Given the description of an element on the screen output the (x, y) to click on. 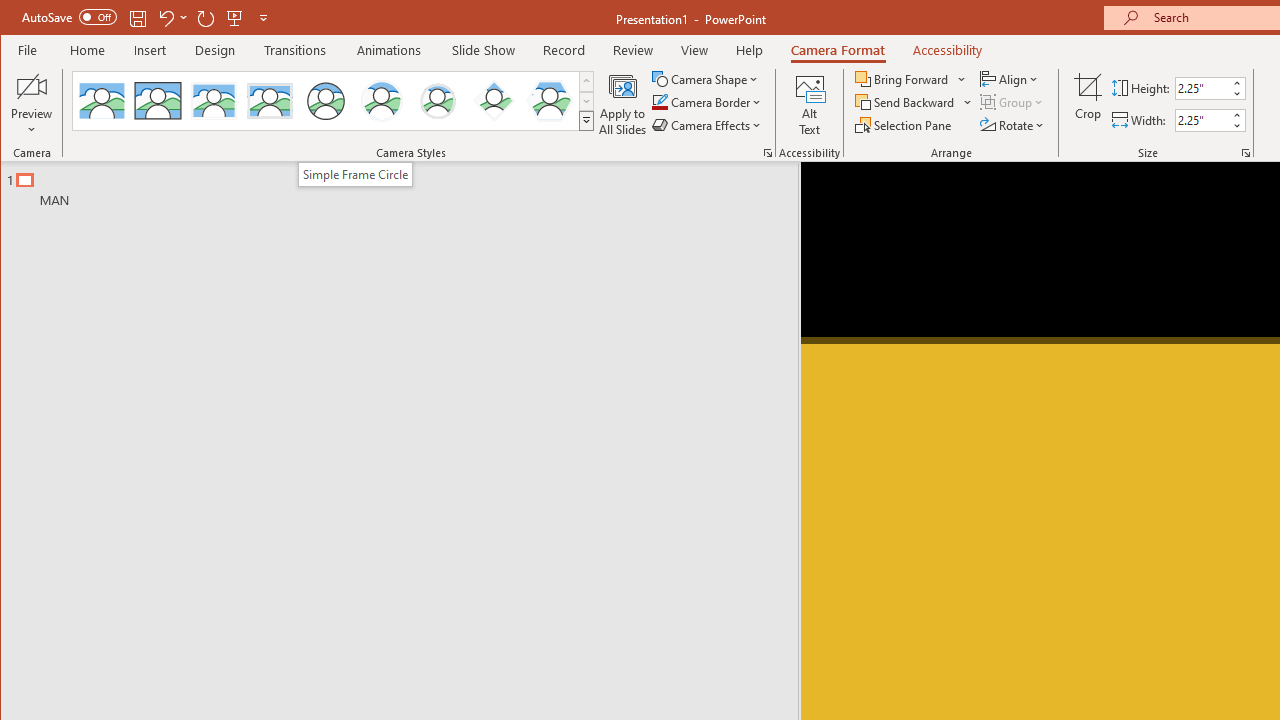
Cameo Width (1201, 120)
AutomationID: CameoStylesGallery (333, 101)
Camera Effects (708, 124)
Center Shadow Hexagon (550, 100)
Simple Frame Circle (355, 174)
Soft Edge Circle (437, 100)
Enable Camera Preview (31, 86)
More (1236, 115)
Cameo Height (1201, 88)
